Given the description of an element on the screen output the (x, y) to click on. 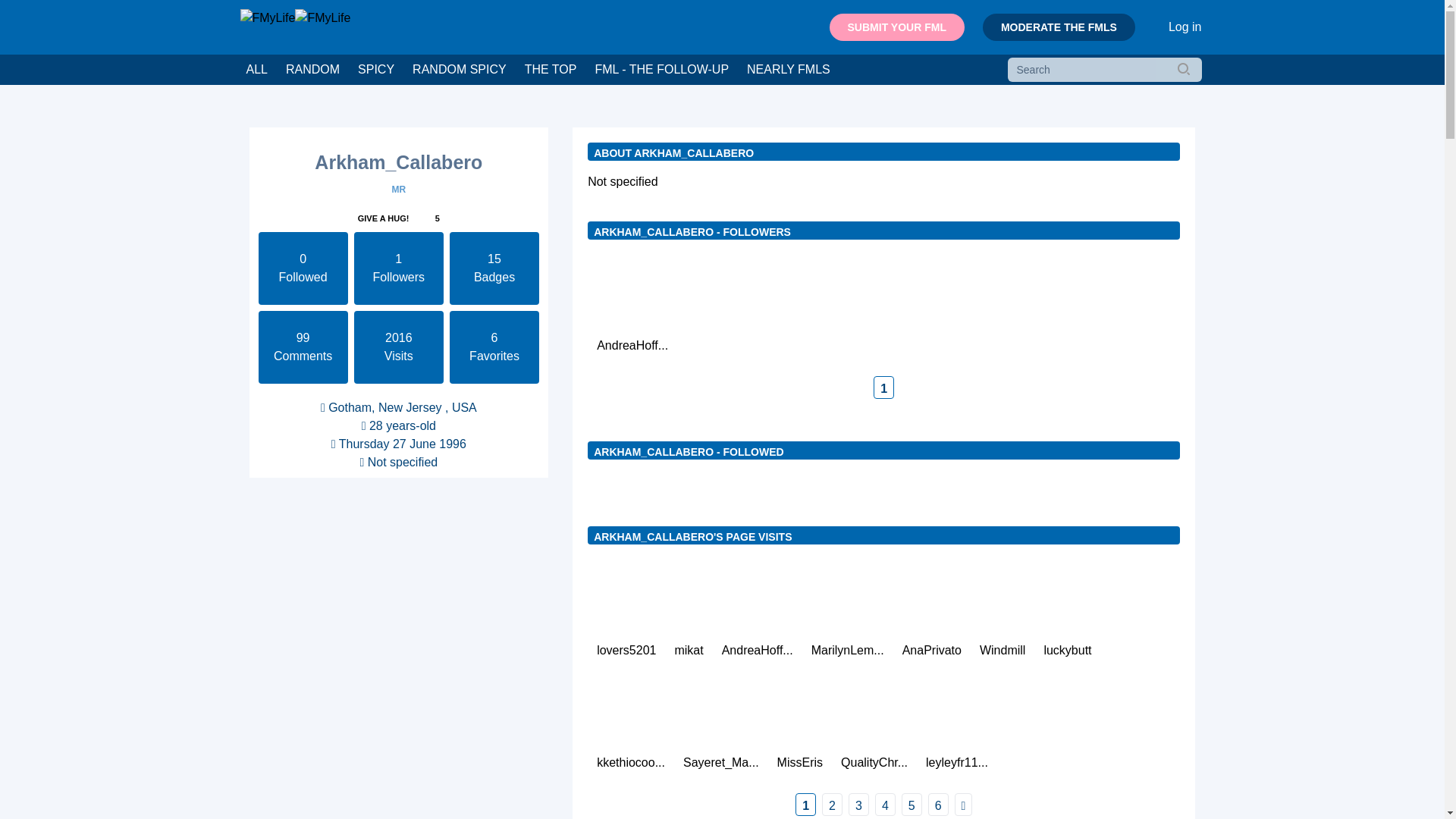
RANDOM SPICY (459, 69)
kkethiocoo... (630, 725)
SPICY (376, 69)
FML - THE FOLLOW-UP (661, 69)
RANDOM (312, 69)
AndreaHoff... (632, 307)
mikat (688, 612)
SUBMIT YOUR FML (896, 26)
AnaPrivato (931, 612)
5 (437, 219)
Log in (1185, 26)
GIVE A HUG! (383, 219)
THE TOP (550, 69)
luckybutt (1066, 612)
